Given the description of an element on the screen output the (x, y) to click on. 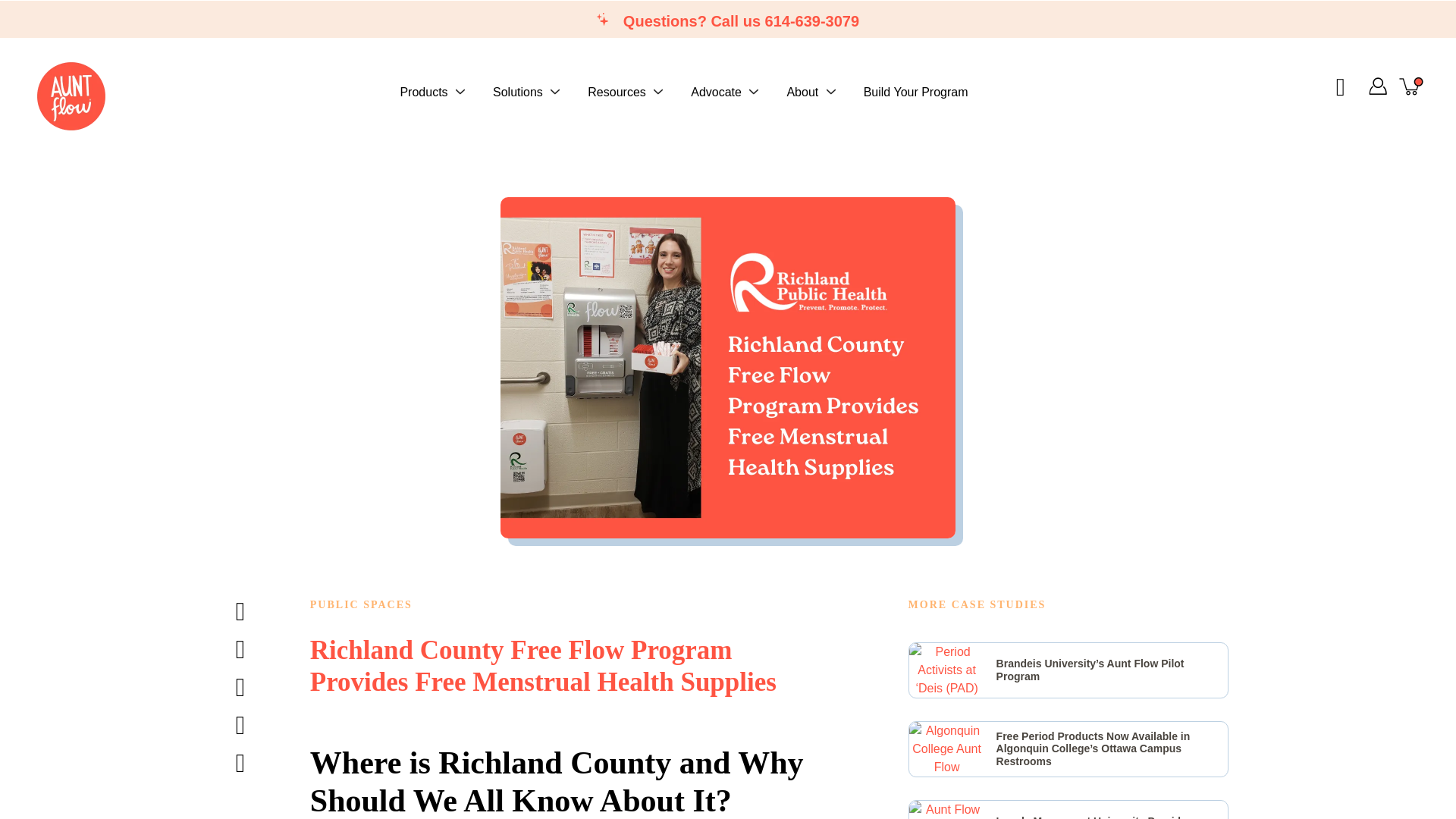
account2-blk (1377, 85)
cart-blk (1410, 85)
View Box Content (1068, 670)
